Given the description of an element on the screen output the (x, y) to click on. 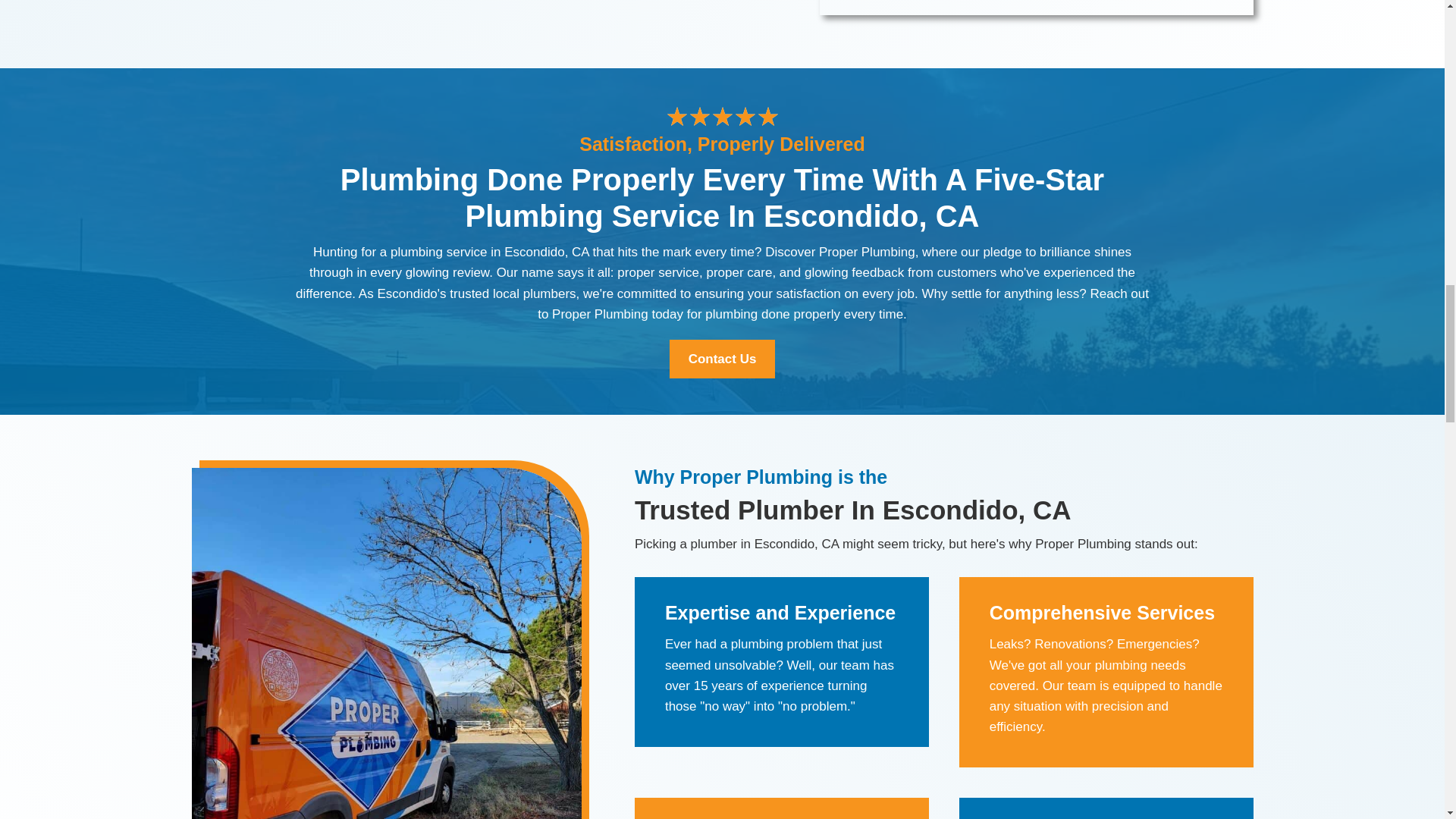
Proper Plumbing Truck (1035, 7)
Contact Us (722, 358)
